Given the description of an element on the screen output the (x, y) to click on. 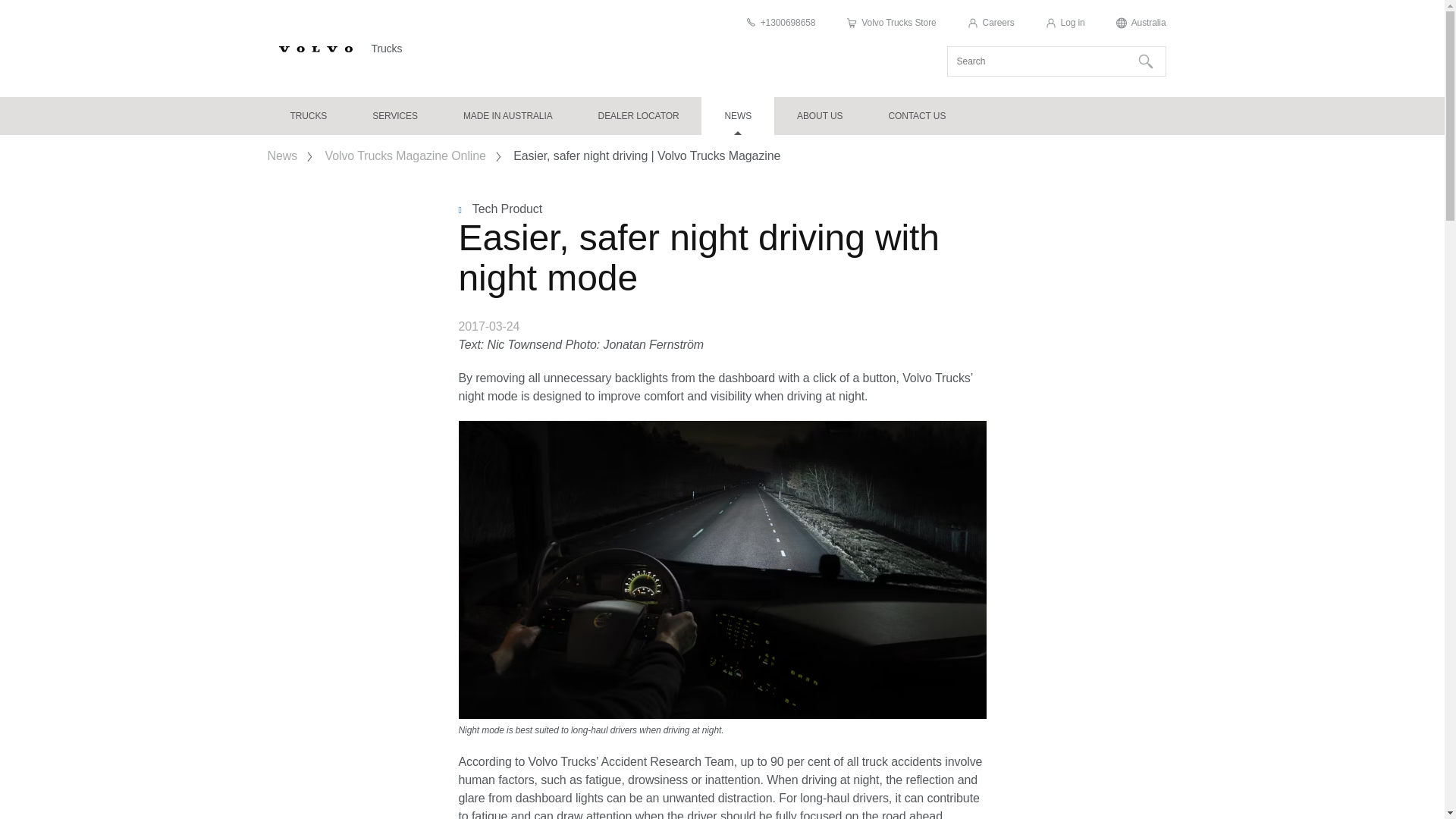
Trucks (307, 116)
TRUCKS (307, 116)
Careers (990, 22)
Log in (1064, 22)
Australia (1140, 22)
Volvo Trucks Store (890, 22)
